Given the description of an element on the screen output the (x, y) to click on. 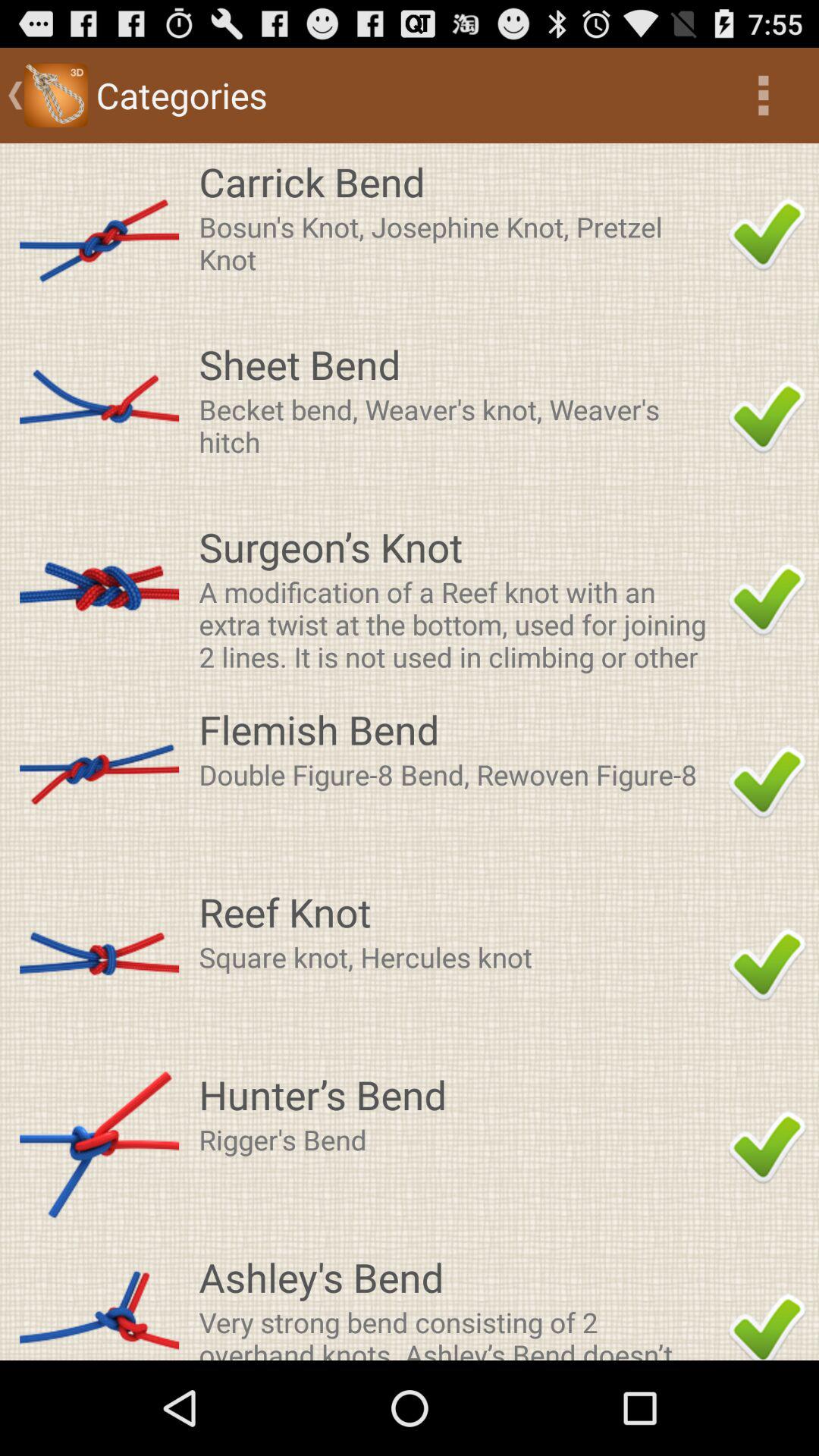
scroll until the a modification of (459, 623)
